Given the description of an element on the screen output the (x, y) to click on. 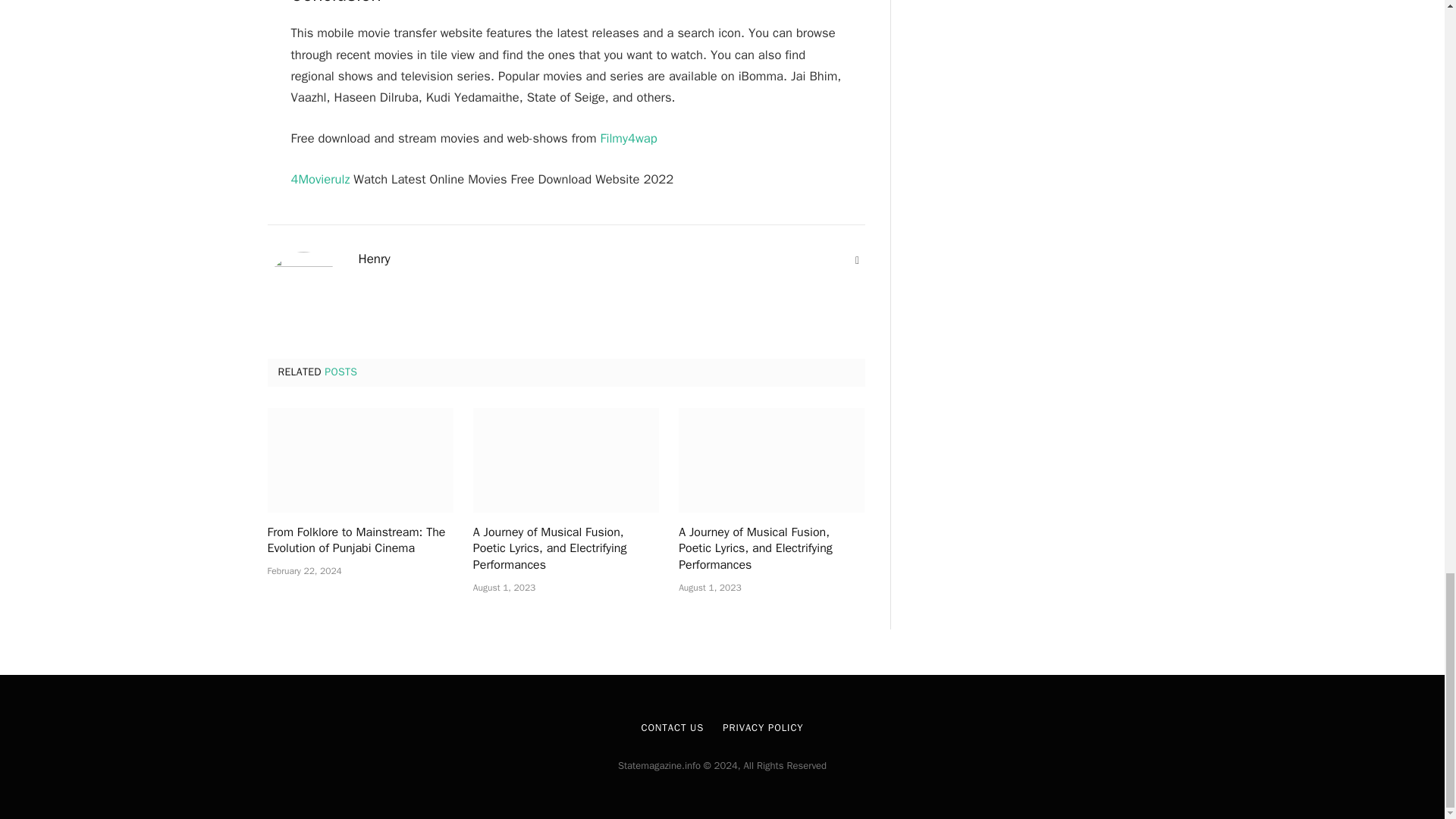
Website (856, 260)
Henry (374, 258)
Filmy4wap (627, 138)
Posts by Henry (374, 258)
Website (856, 260)
4Movierulz (320, 179)
